Given the description of an element on the screen output the (x, y) to click on. 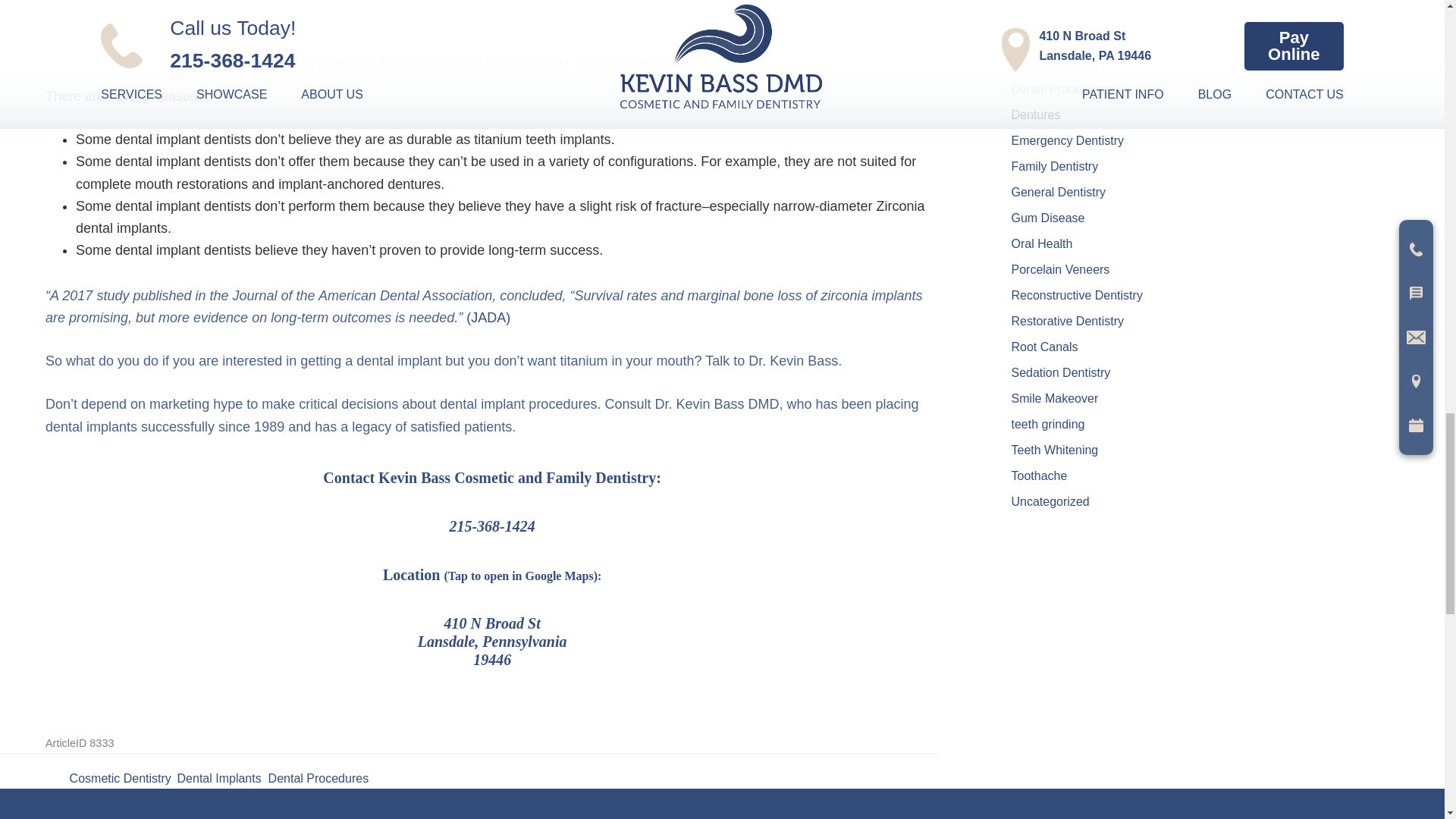
tooth implants Lansdale (488, 317)
